Given the description of an element on the screen output the (x, y) to click on. 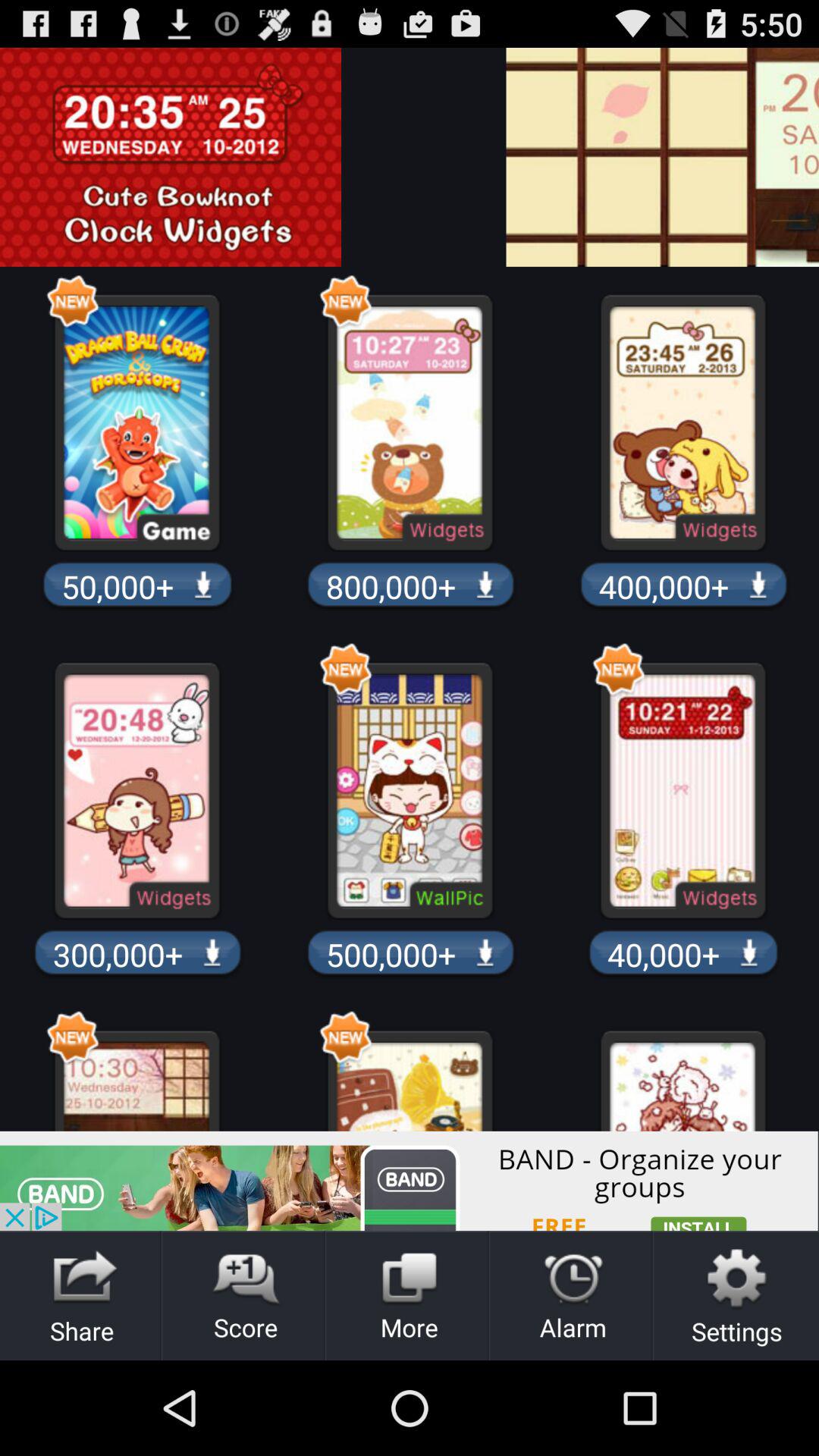
advertisement (398, 156)
